Given the description of an element on the screen output the (x, y) to click on. 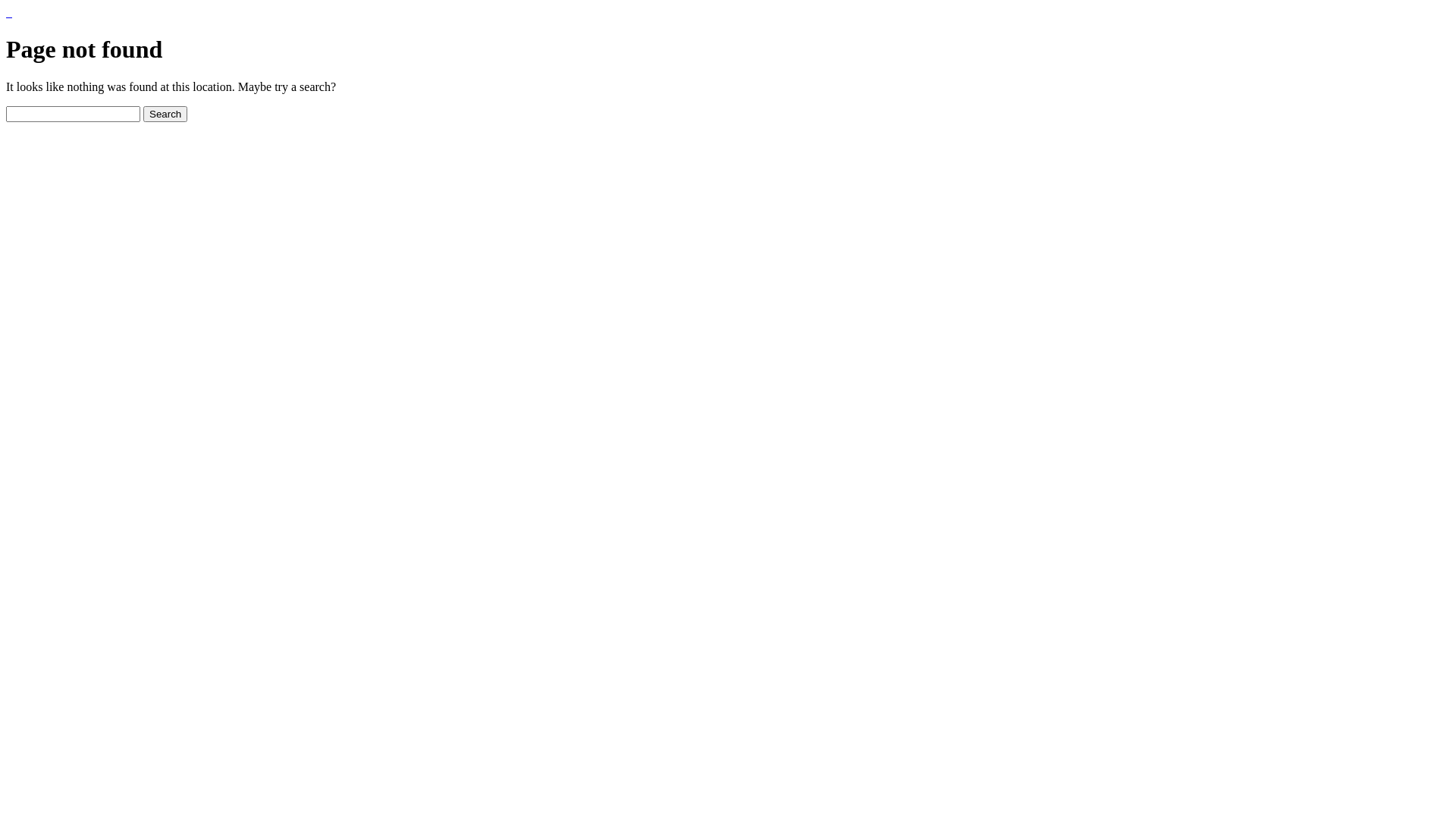
Search Element type: text (165, 114)
